Given the description of an element on the screen output the (x, y) to click on. 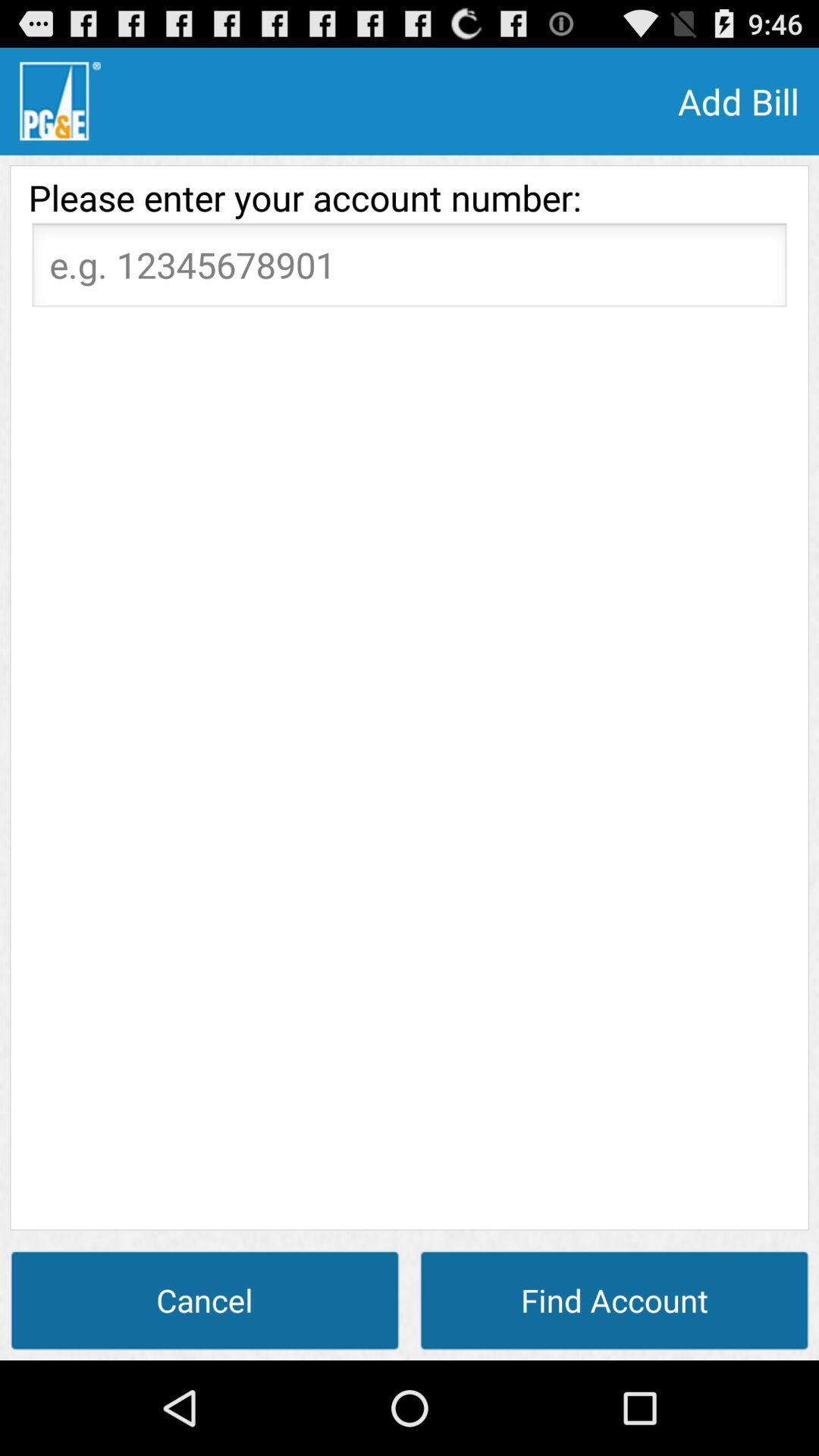
open the find account button (613, 1300)
